Given the description of an element on the screen output the (x, y) to click on. 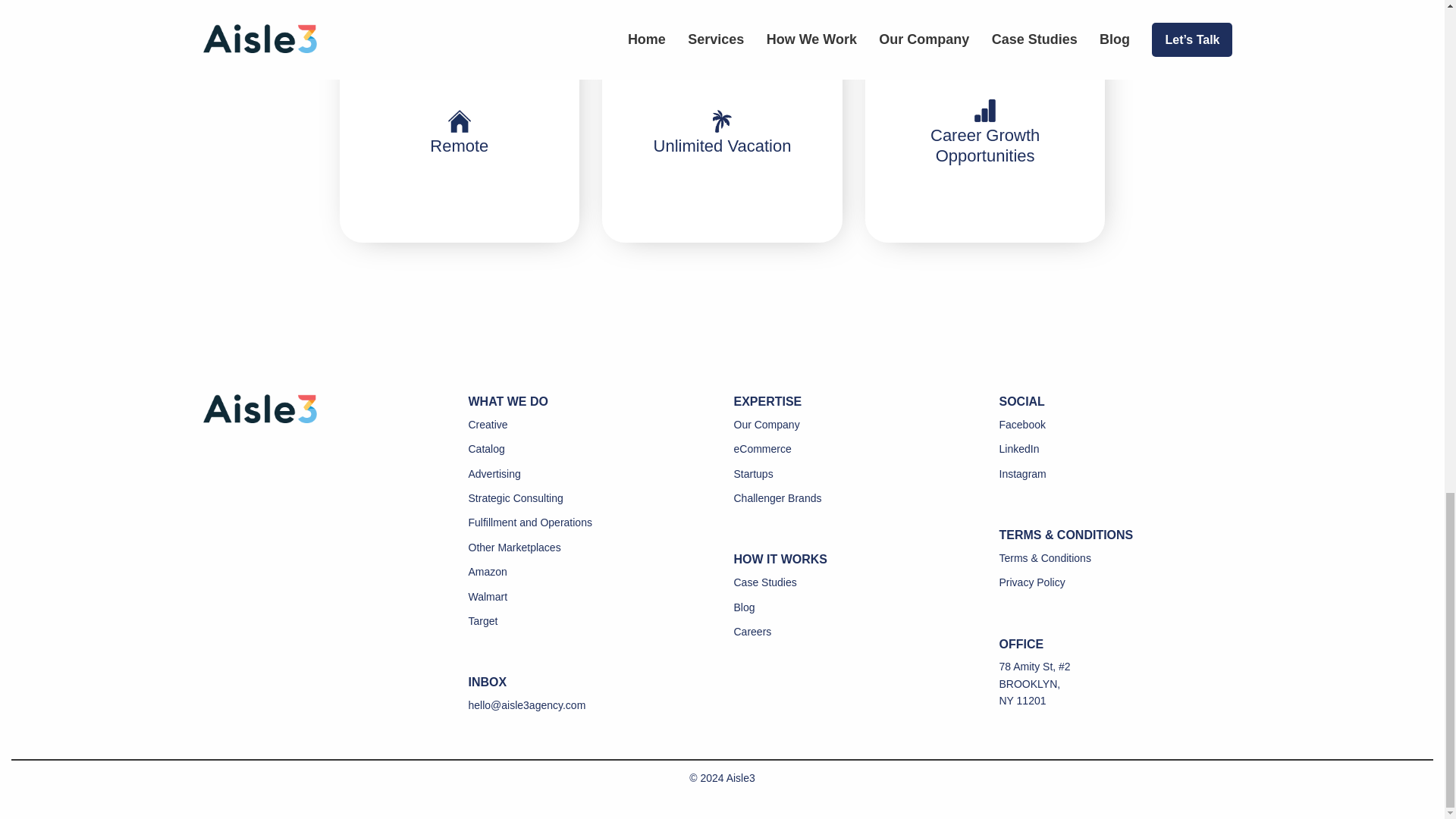
Amazon (487, 571)
Advertising (494, 473)
Fulfillment and Operations (530, 522)
Walmart (488, 596)
Creative (488, 424)
Other Marketplaces (514, 547)
Target (482, 621)
Catalog (486, 449)
Strategic Consulting (515, 498)
